Given the description of an element on the screen output the (x, y) to click on. 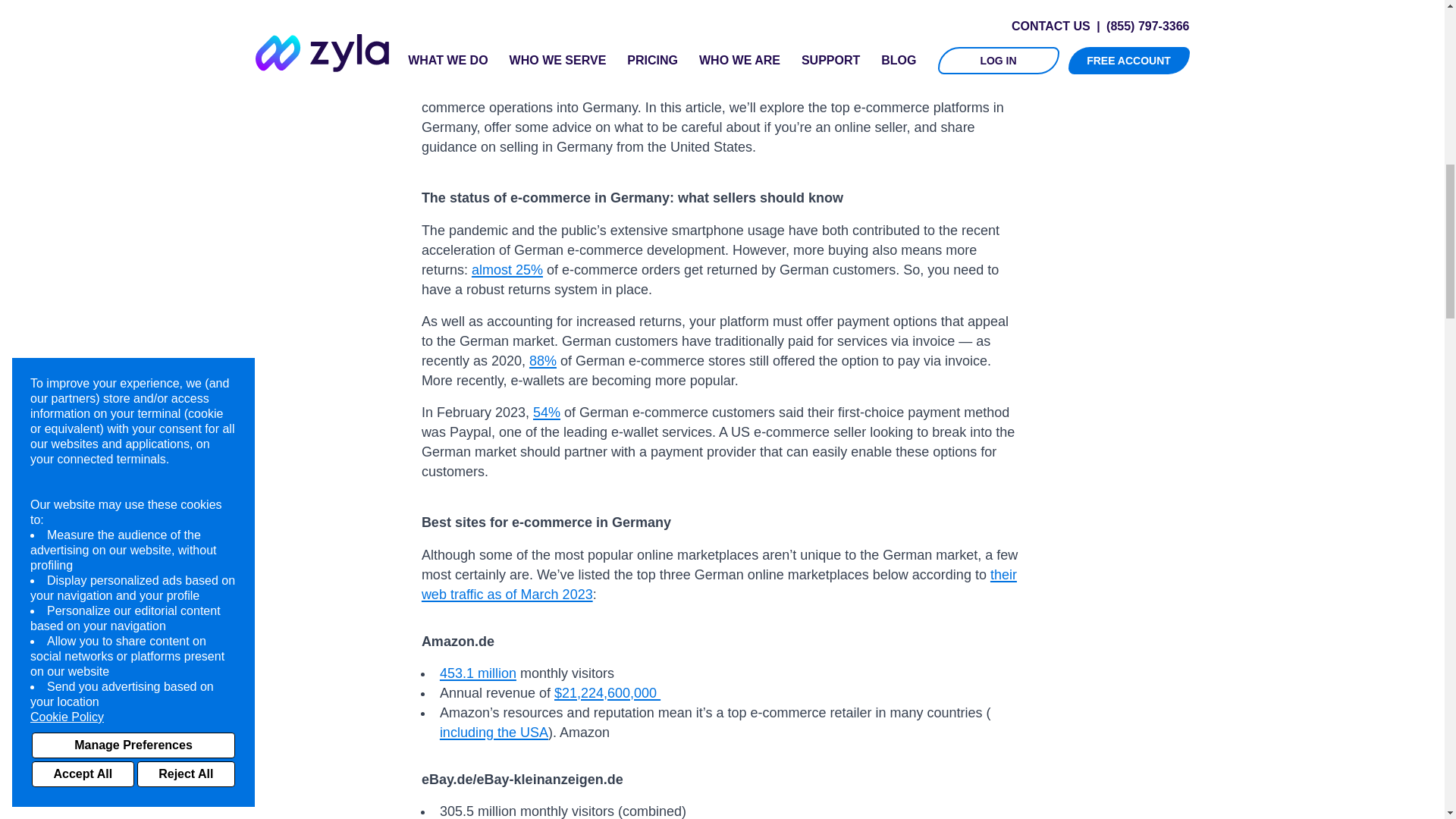
453.1 million (477, 673)
including the USA (493, 732)
their web traffic as of March 2023 (719, 584)
German e-commerce users (678, 2)
